Given the description of an element on the screen output the (x, y) to click on. 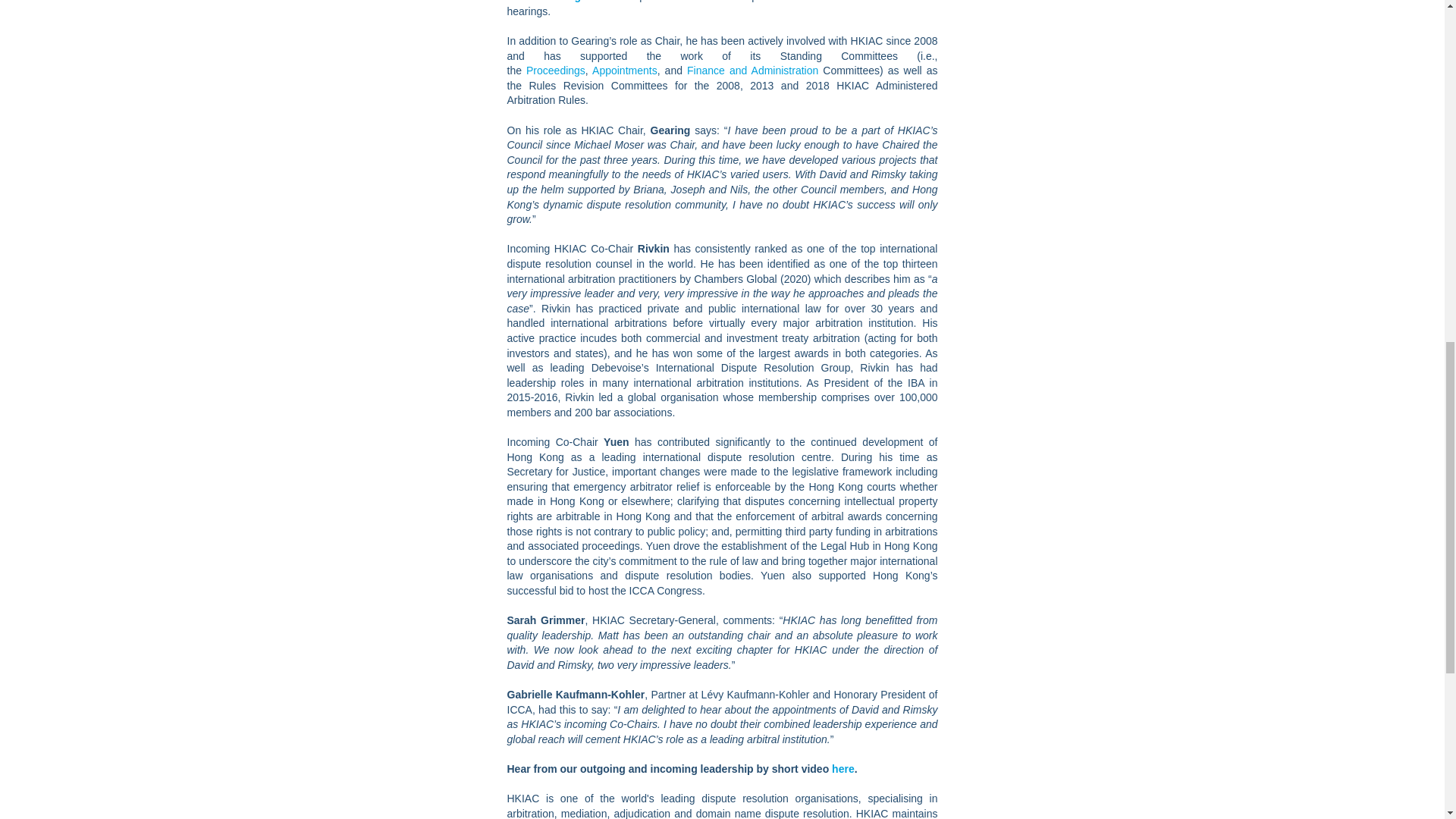
Finance and Administration (752, 70)
Proceedings (555, 70)
Proceedings (555, 70)
here (842, 768)
Appointments (625, 70)
Finance and Administration (752, 70)
here (842, 768)
Appointments (625, 70)
